Given the description of an element on the screen output the (x, y) to click on. 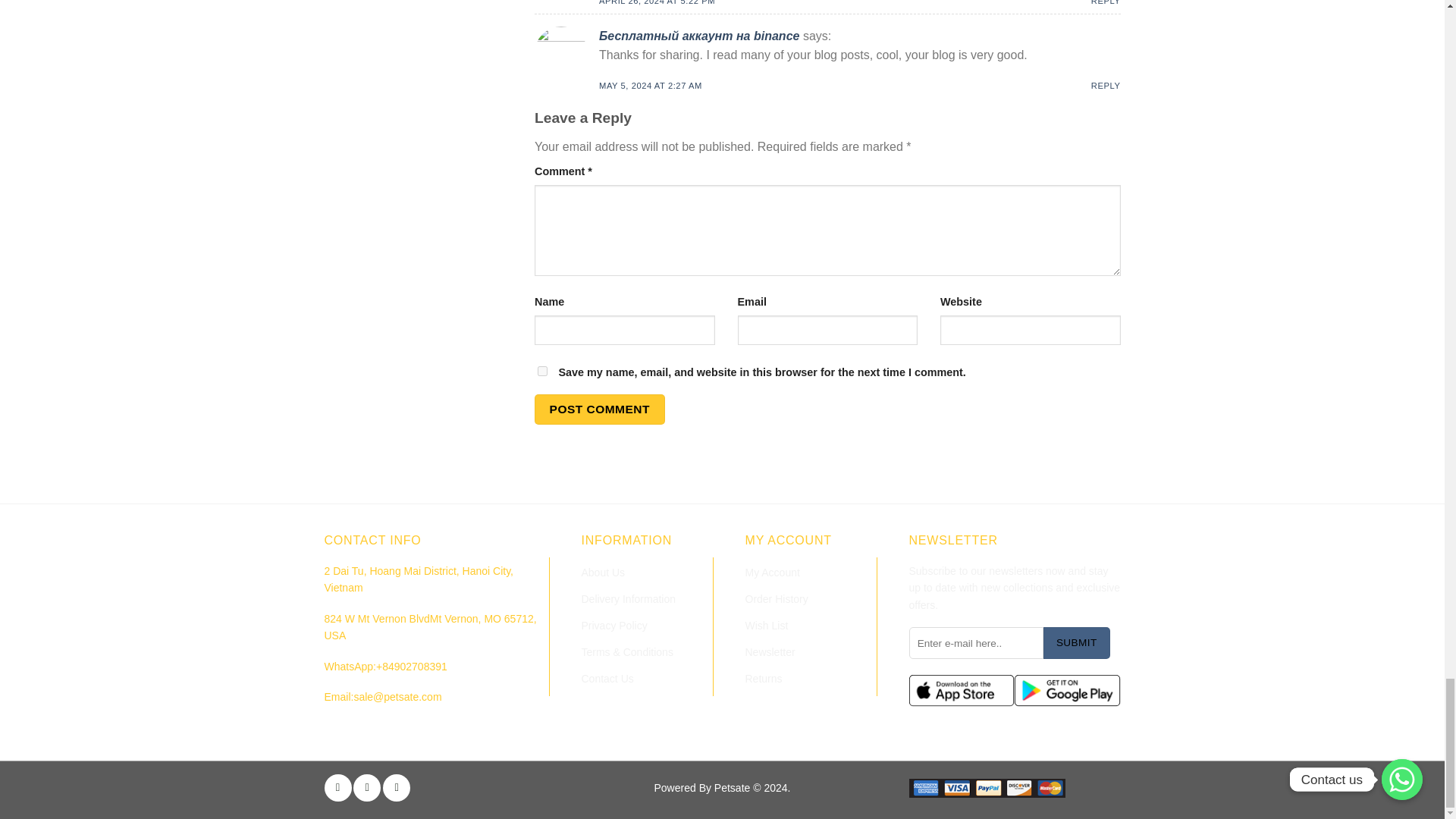
Post Comment (599, 408)
SUBMIT (1076, 643)
yes (542, 370)
